Given the description of an element on the screen output the (x, y) to click on. 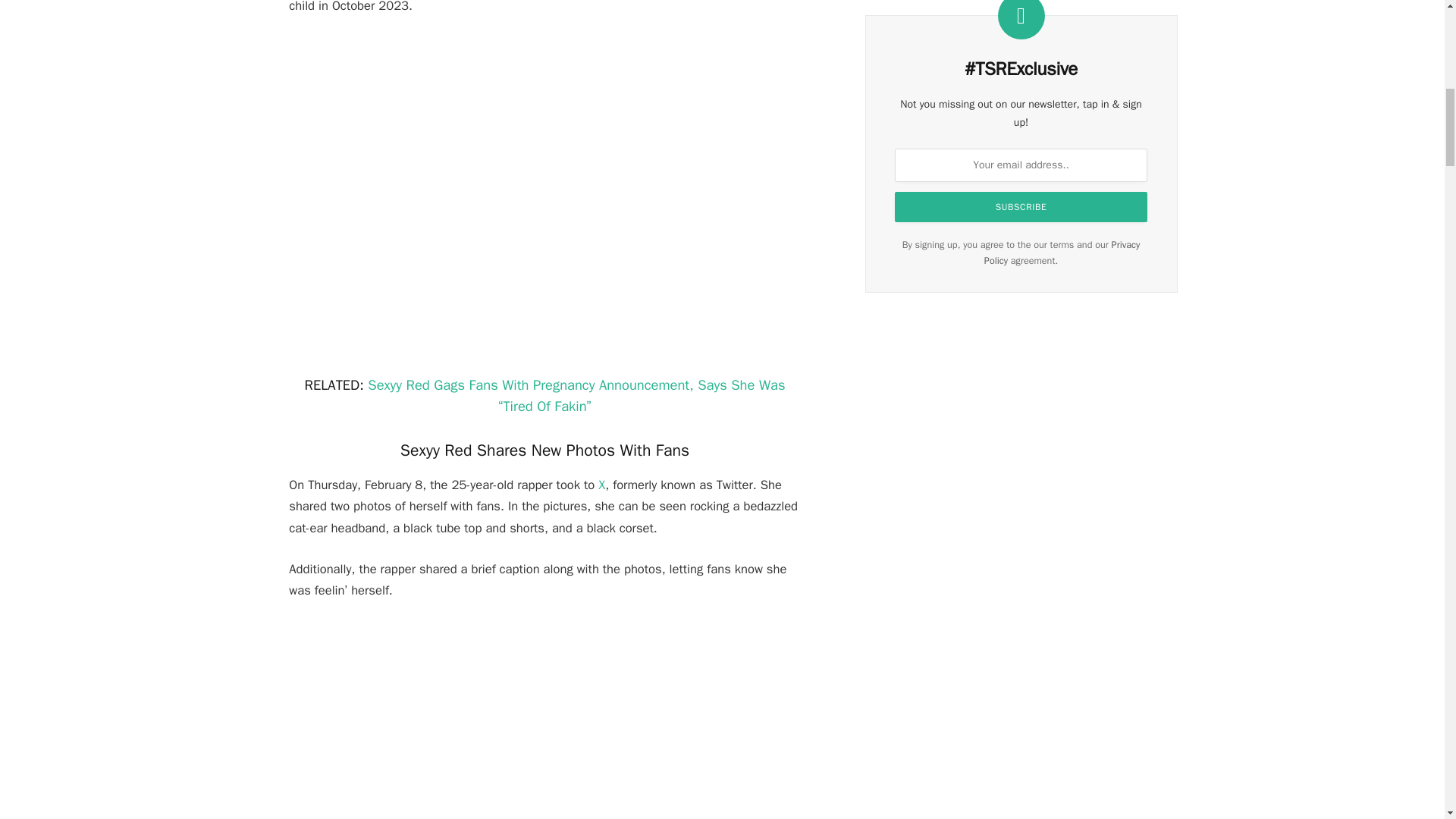
Subscribe (1021, 206)
